Given the description of an element on the screen output the (x, y) to click on. 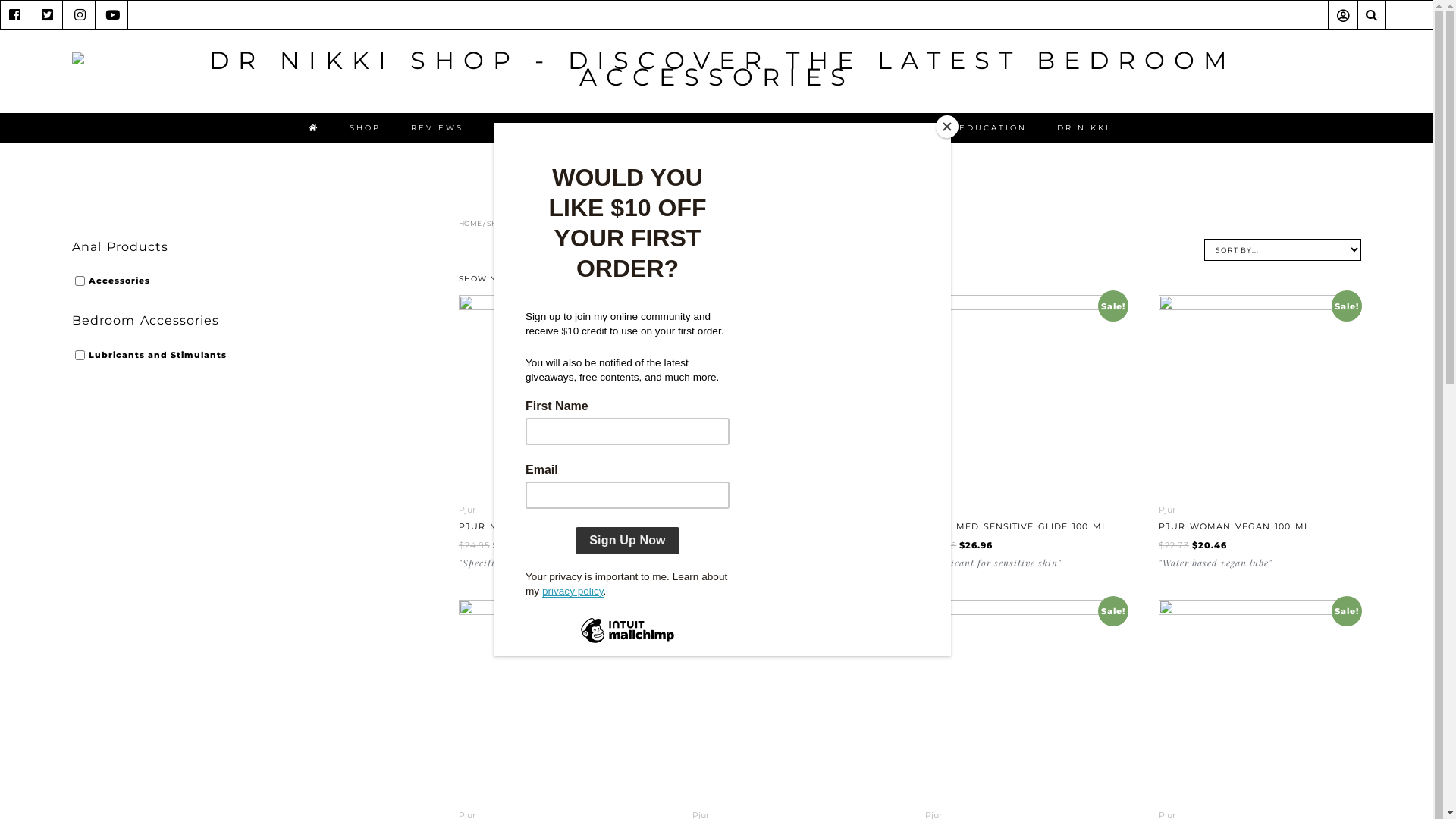
Pjur Element type: text (1166, 509)
PRE-BLACK FRIDAY SALE! Element type: text (567, 120)
Pjur Element type: text (933, 509)
Sale! Element type: text (558, 699)
HOME Element type: text (469, 223)
Pjur Element type: text (466, 509)
Sale! Element type: text (791, 699)
Pjur Element type: text (700, 509)
Sale! Element type: text (1024, 699)
ONLINE COMMUNITY Element type: text (869, 120)
SEX TOY CONSULT Element type: text (725, 120)
SHOP Element type: text (364, 120)
Sale! Element type: text (1258, 699)
Sale! Element type: text (558, 394)
Dr Nikki Shop Element type: hover (716, 76)
Sale! Element type: text (1024, 394)
Sale! Element type: text (791, 394)
EDUCATION Element type: text (991, 120)
Sale! Element type: text (1258, 394)
REVIEWS Element type: text (436, 120)
DR NIKKI Element type: text (1083, 120)
